Given the description of an element on the screen output the (x, y) to click on. 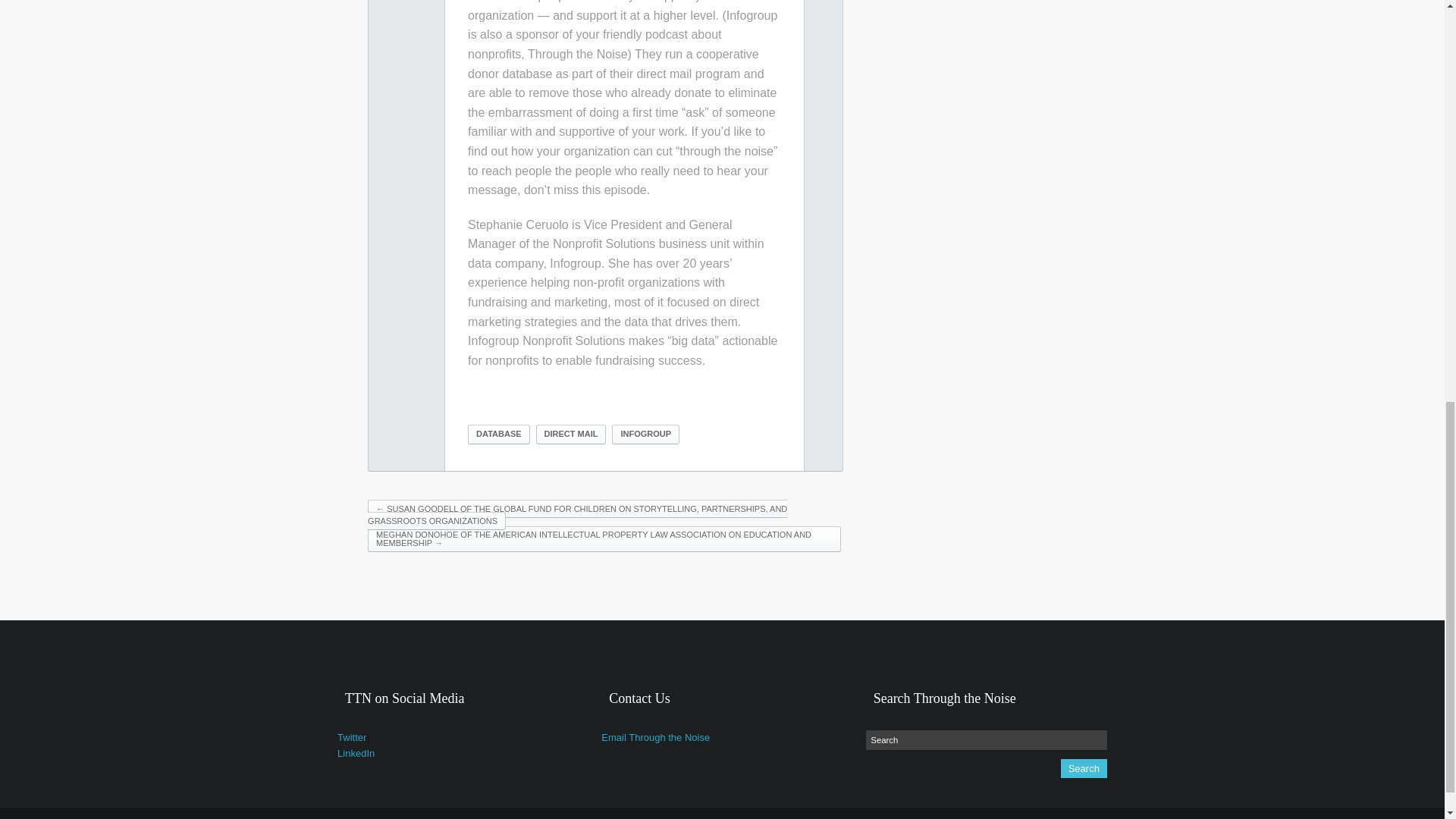
INFOGROUP (645, 434)
Search (1083, 768)
LinkedIn (355, 753)
Search (1083, 768)
DIRECT MAIL (571, 434)
Search (986, 740)
DATABASE (498, 434)
Twitter (351, 737)
Email Through the Noise (655, 737)
